Given the description of an element on the screen output the (x, y) to click on. 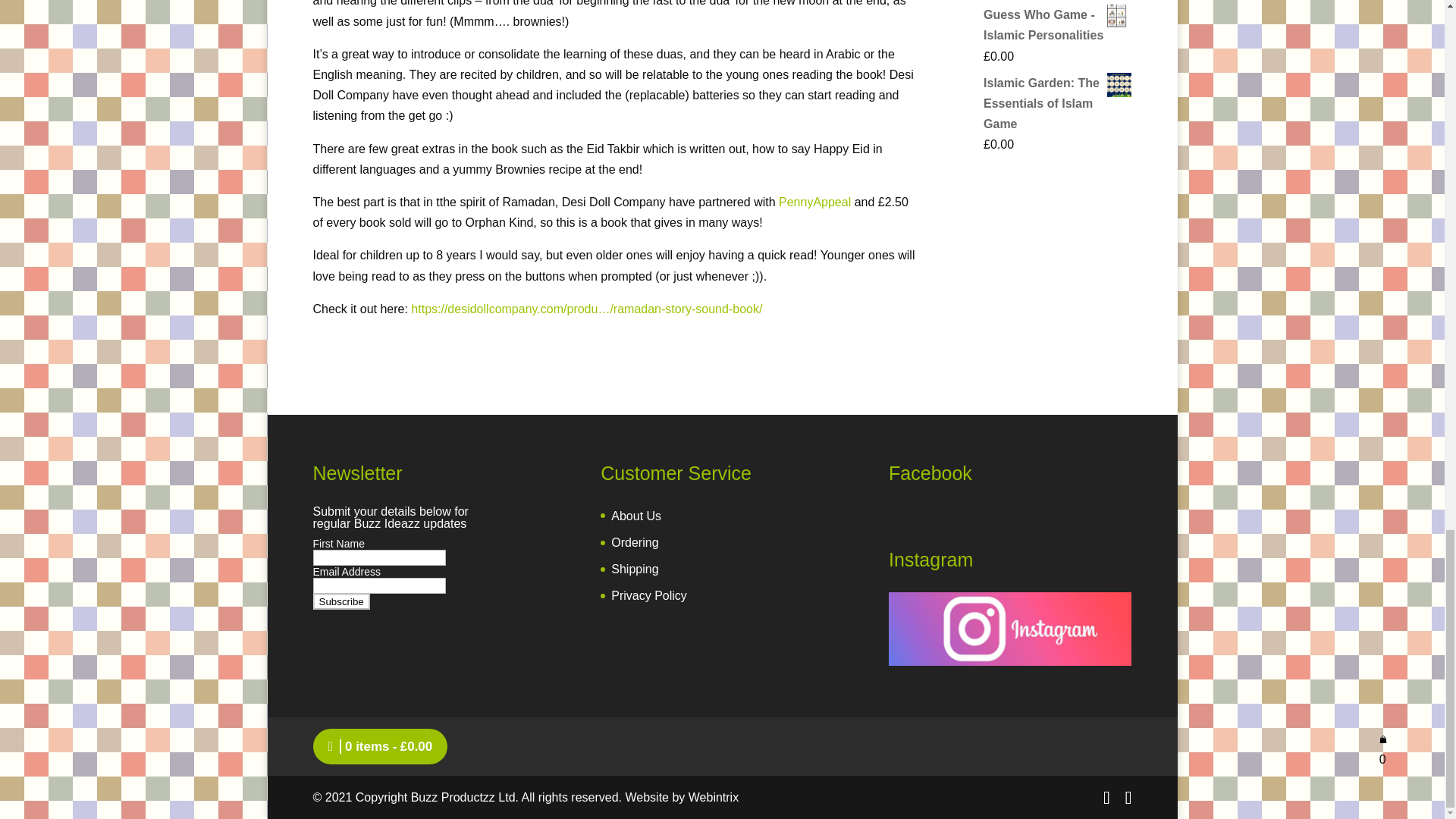
Subscribe (341, 601)
Start shopping (379, 746)
PennyAppeal (814, 201)
